Given the description of an element on the screen output the (x, y) to click on. 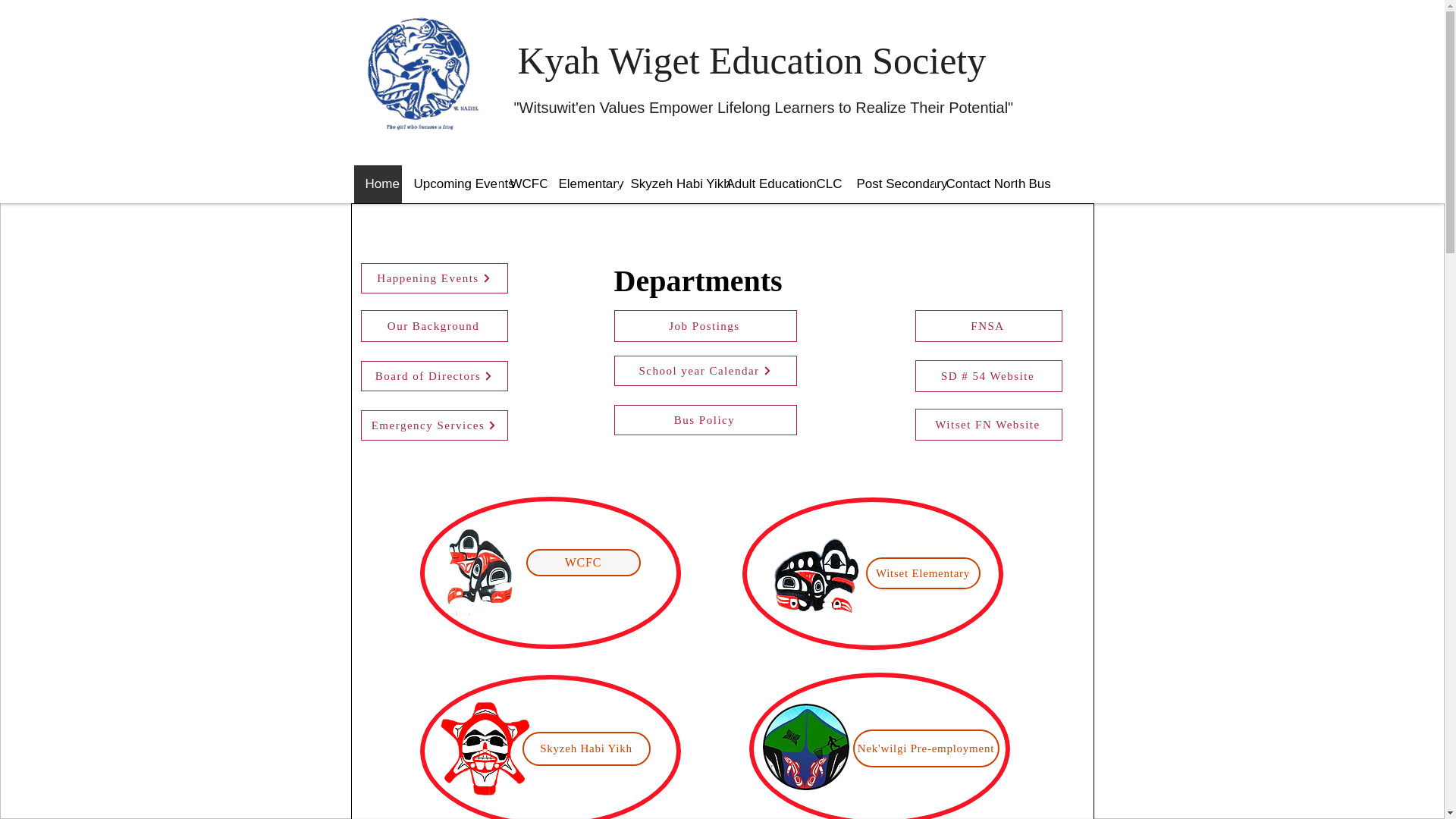
Home (377, 184)
WCFC (521, 184)
Skyzeh Habi Yikh (585, 748)
Bus (1035, 184)
WCFC (582, 562)
Bus Policy (705, 419)
Upcoming Events (449, 184)
Elementary (581, 184)
CLC (823, 184)
Job Postings (705, 326)
